Given the description of an element on the screen output the (x, y) to click on. 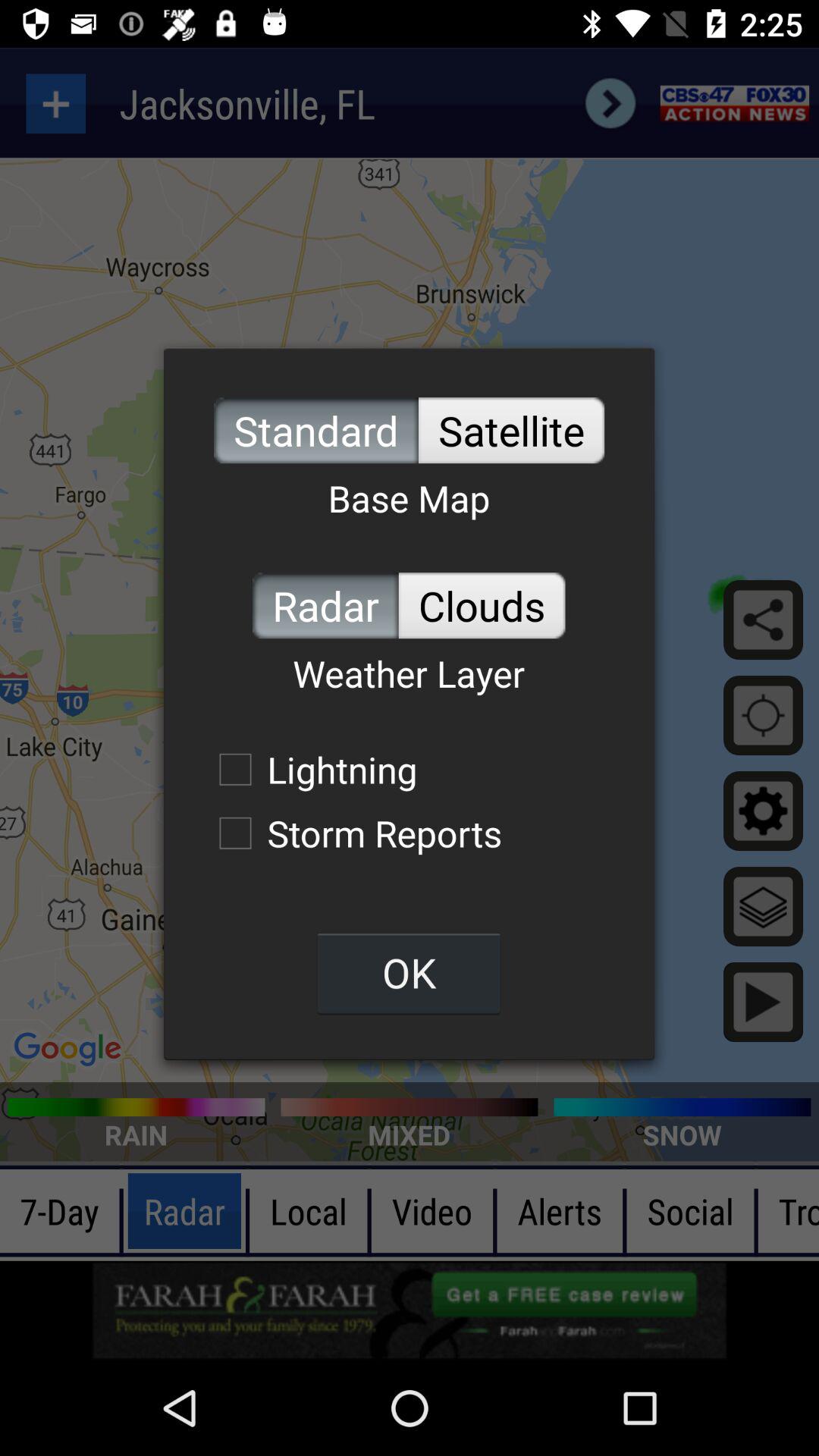
launch icon to the right of radar icon (481, 605)
